Given the description of an element on the screen output the (x, y) to click on. 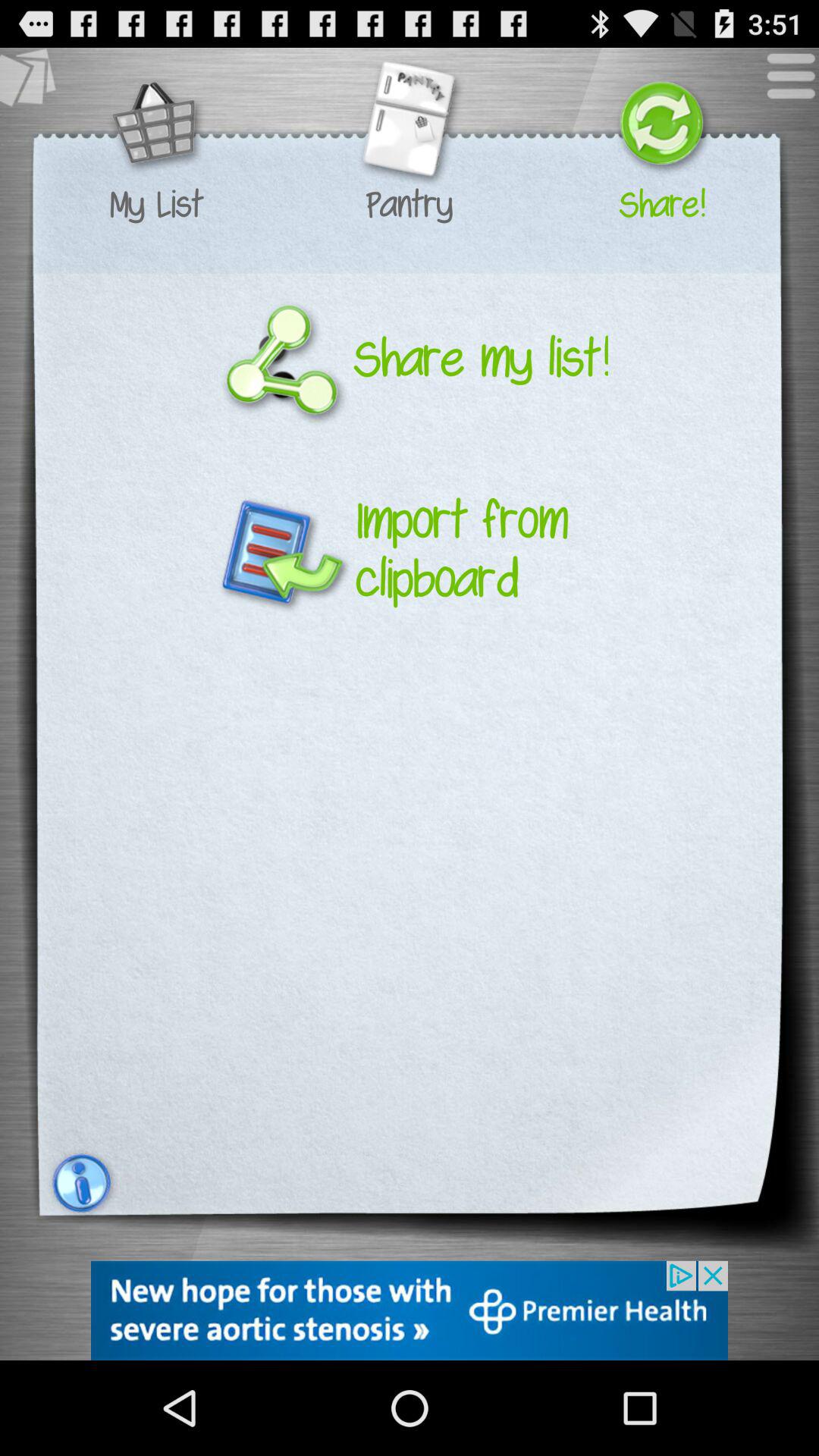
click the share option (661, 125)
